Given the description of an element on the screen output the (x, y) to click on. 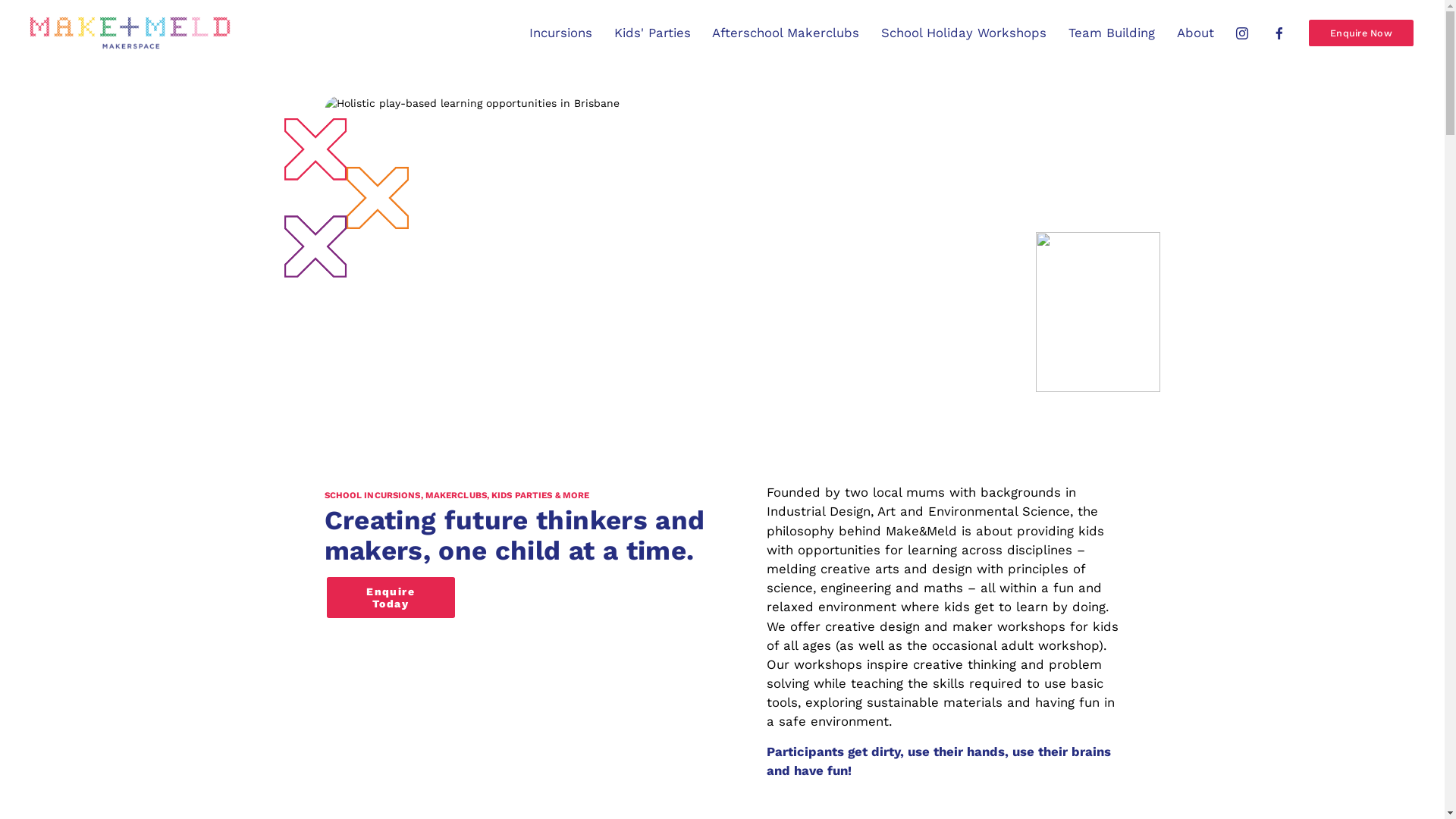
Incursions Element type: text (560, 32)
School Holiday Workshops Element type: text (963, 32)
Enquire Now Element type: text (1360, 32)
Team Building Element type: text (1111, 32)
Enquire Today Element type: text (390, 597)
Afterschool Makerclubs Element type: text (785, 32)
Kids' Parties Element type: text (652, 32)
About Element type: text (1195, 32)
